Given the description of an element on the screen output the (x, y) to click on. 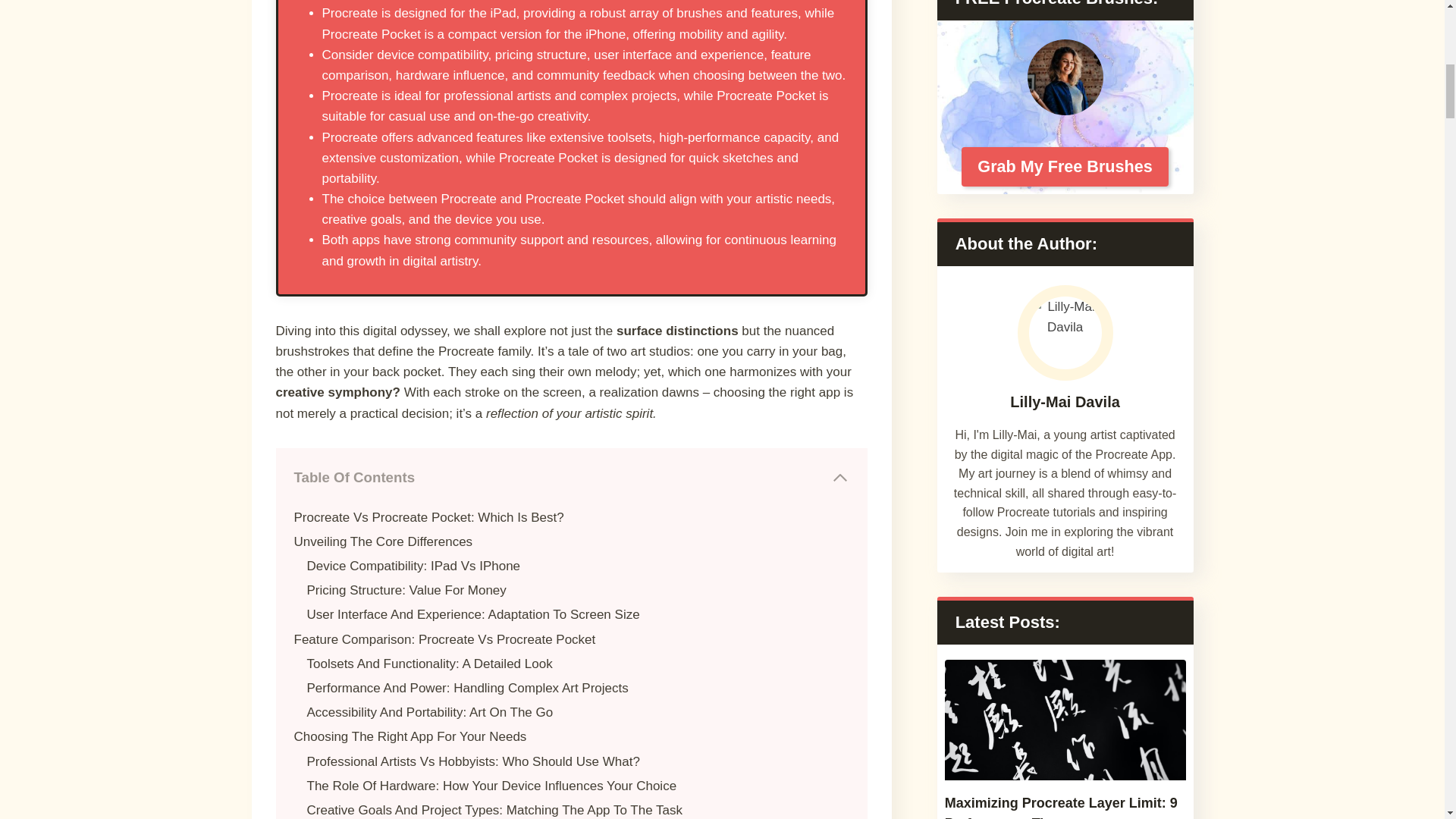
Toolsets And Functionality: A Detailed Look (428, 663)
Unveiling The Core Differences (383, 541)
Procreate Vs Procreate Pocket: Which Is Best? (429, 517)
Device Compatibility: IPad Vs IPhone (412, 565)
User Interface And Experience: Adaptation To Screen Size (472, 614)
Accessibility And Portability: Art On The Go (429, 712)
Feature Comparison: Procreate Vs Procreate Pocket (444, 639)
Pricing Structure: Value For Money (405, 590)
Choosing The Right App For Your Needs (410, 736)
Table Of Contents (572, 477)
Performance And Power: Handling Complex Art Projects (466, 687)
